Given the description of an element on the screen output the (x, y) to click on. 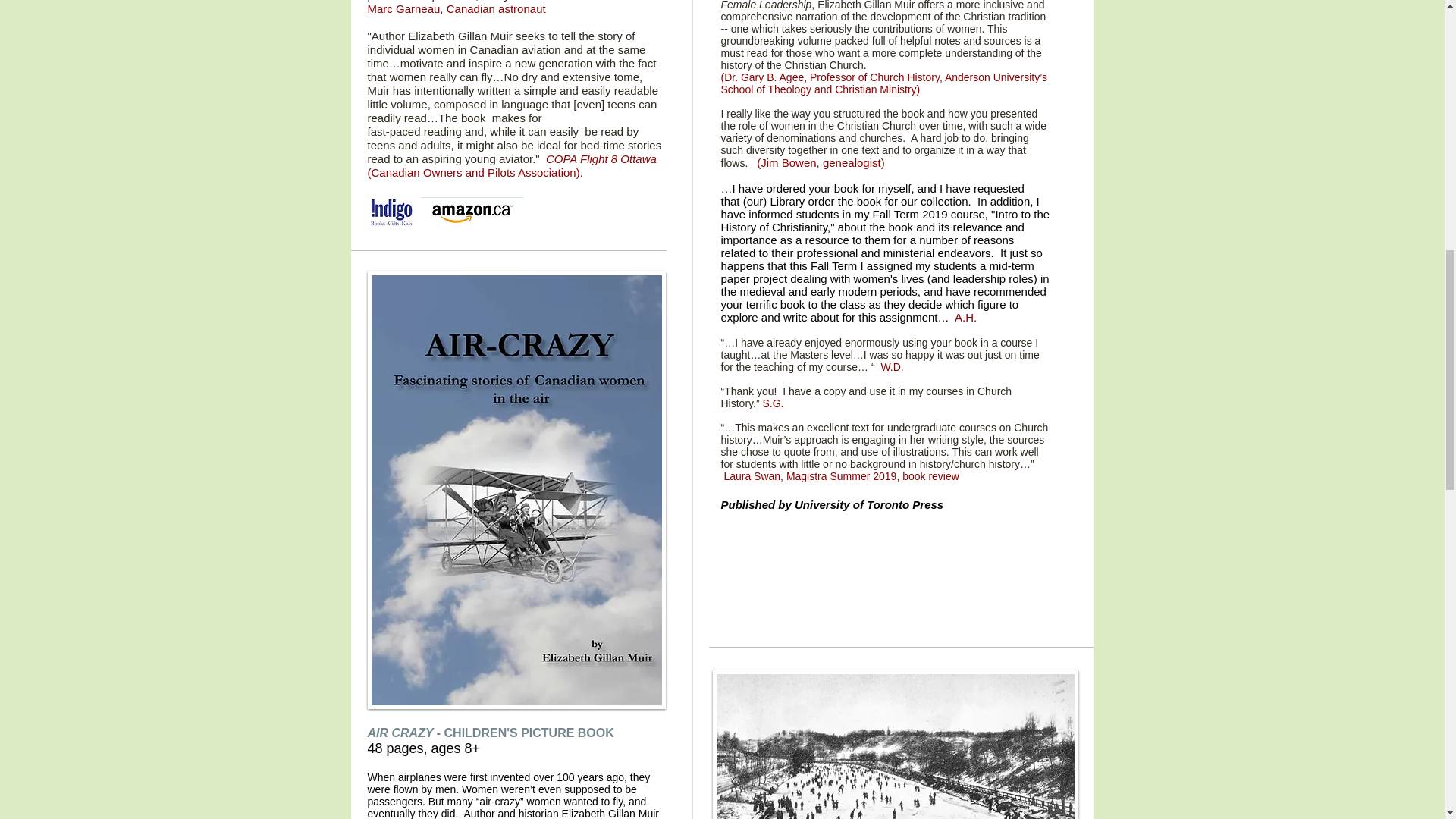
Amazon.ca logo.png (472, 213)
Indigo logo.jpg (390, 212)
Riverdalev cover.jpg (895, 744)
Air Crazy Dr6-1.jpg (515, 490)
